Given the description of an element on the screen output the (x, y) to click on. 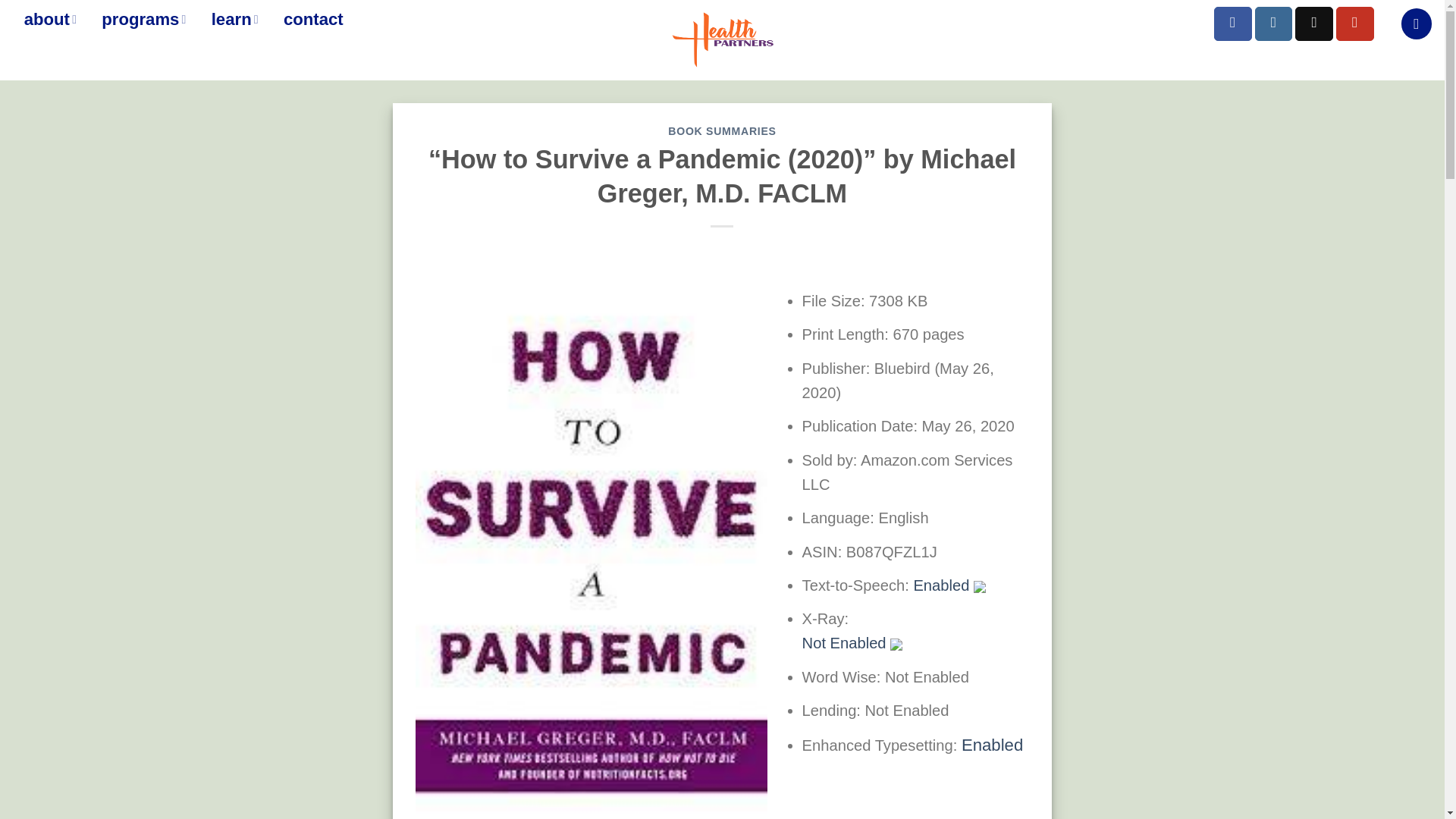
Health Partners - Take Control with Healthy Food (722, 40)
about (49, 19)
contact (312, 19)
Not Enabled (852, 642)
Follow on YouTube (1355, 23)
BOOK SUMMARIES (722, 131)
learn (234, 19)
Follow on Facebook (1233, 23)
Send us an email (1314, 23)
Follow on Instagram (1273, 23)
